Given the description of an element on the screen output the (x, y) to click on. 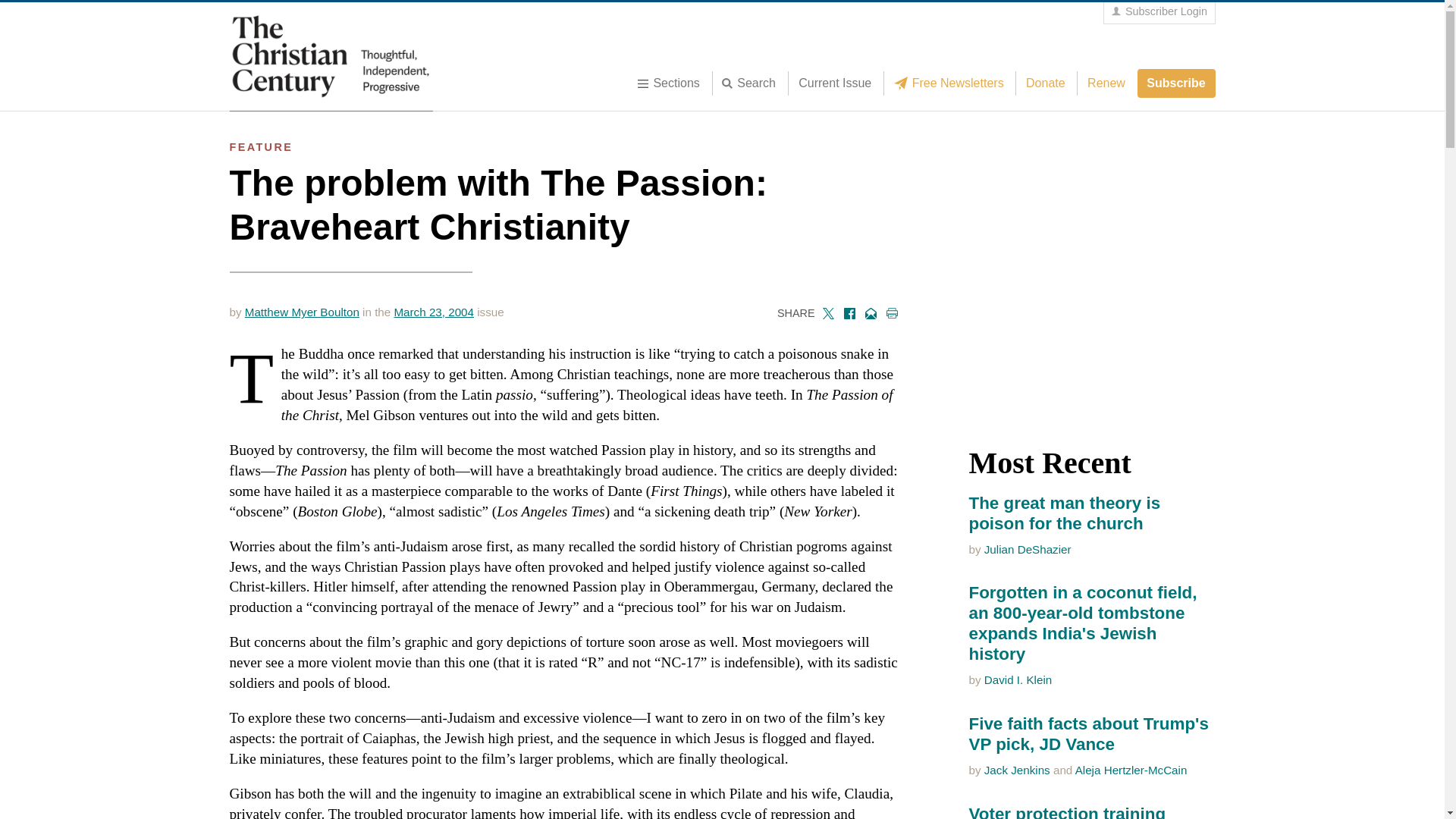
Renew (1105, 83)
Back to homepage (330, 56)
Subscriber Login (1159, 11)
title (753, 83)
Subscribe (1176, 82)
Donate (1045, 83)
Free Newsletters (952, 83)
Current Issue (834, 83)
